Given the description of an element on the screen output the (x, y) to click on. 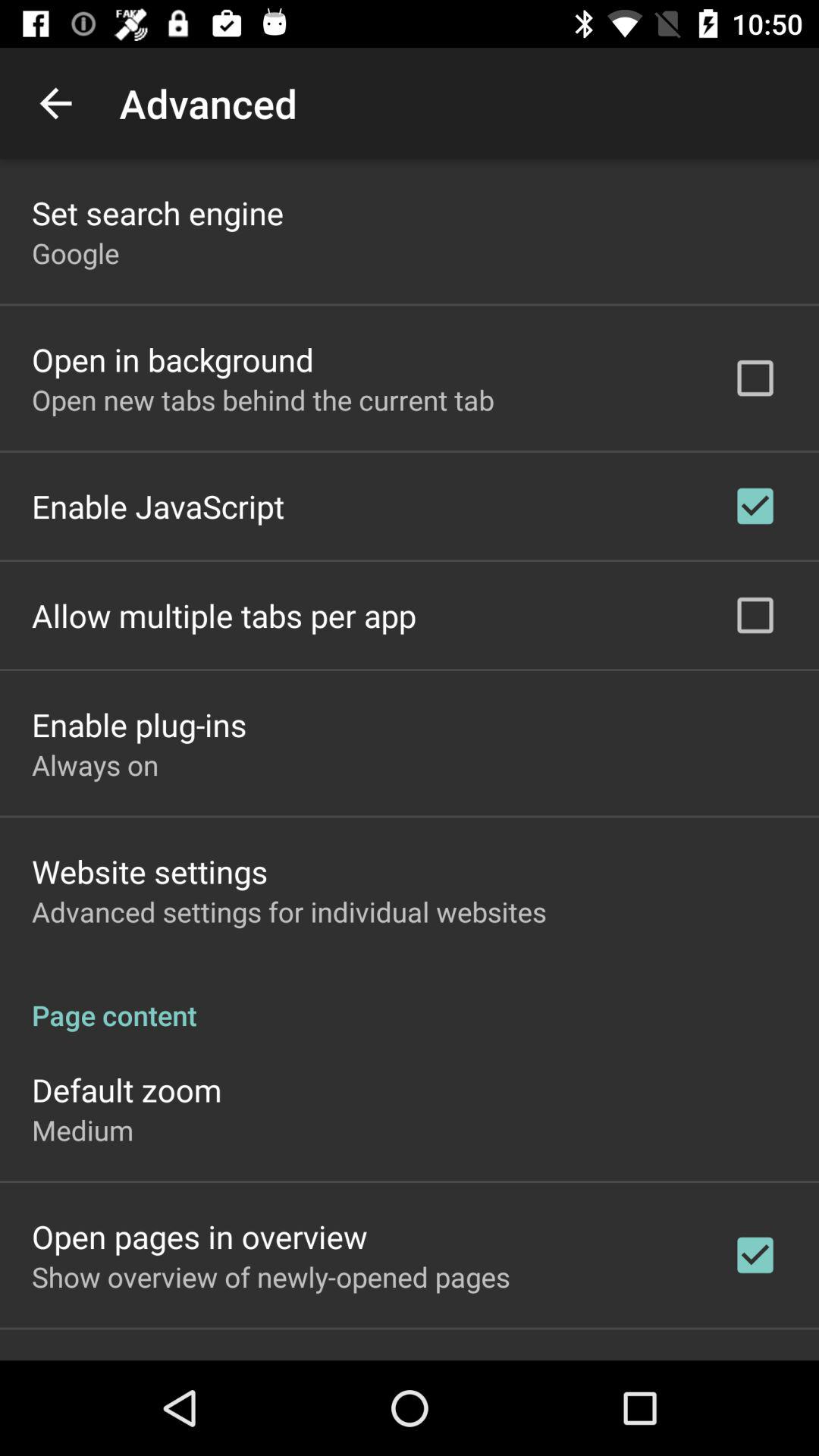
select app above the google icon (157, 212)
